Given the description of an element on the screen output the (x, y) to click on. 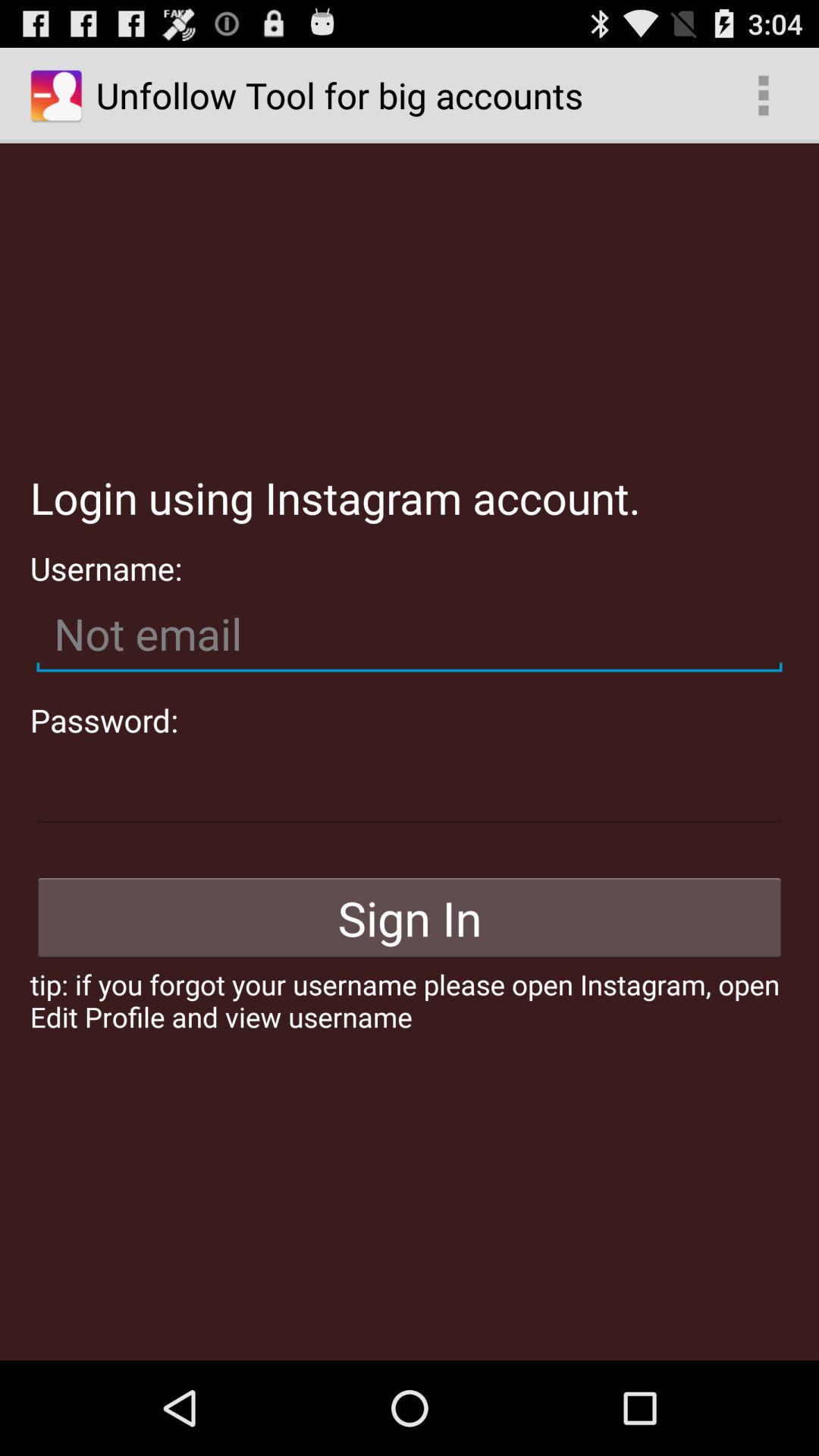
enter password (409, 785)
